Given the description of an element on the screen output the (x, y) to click on. 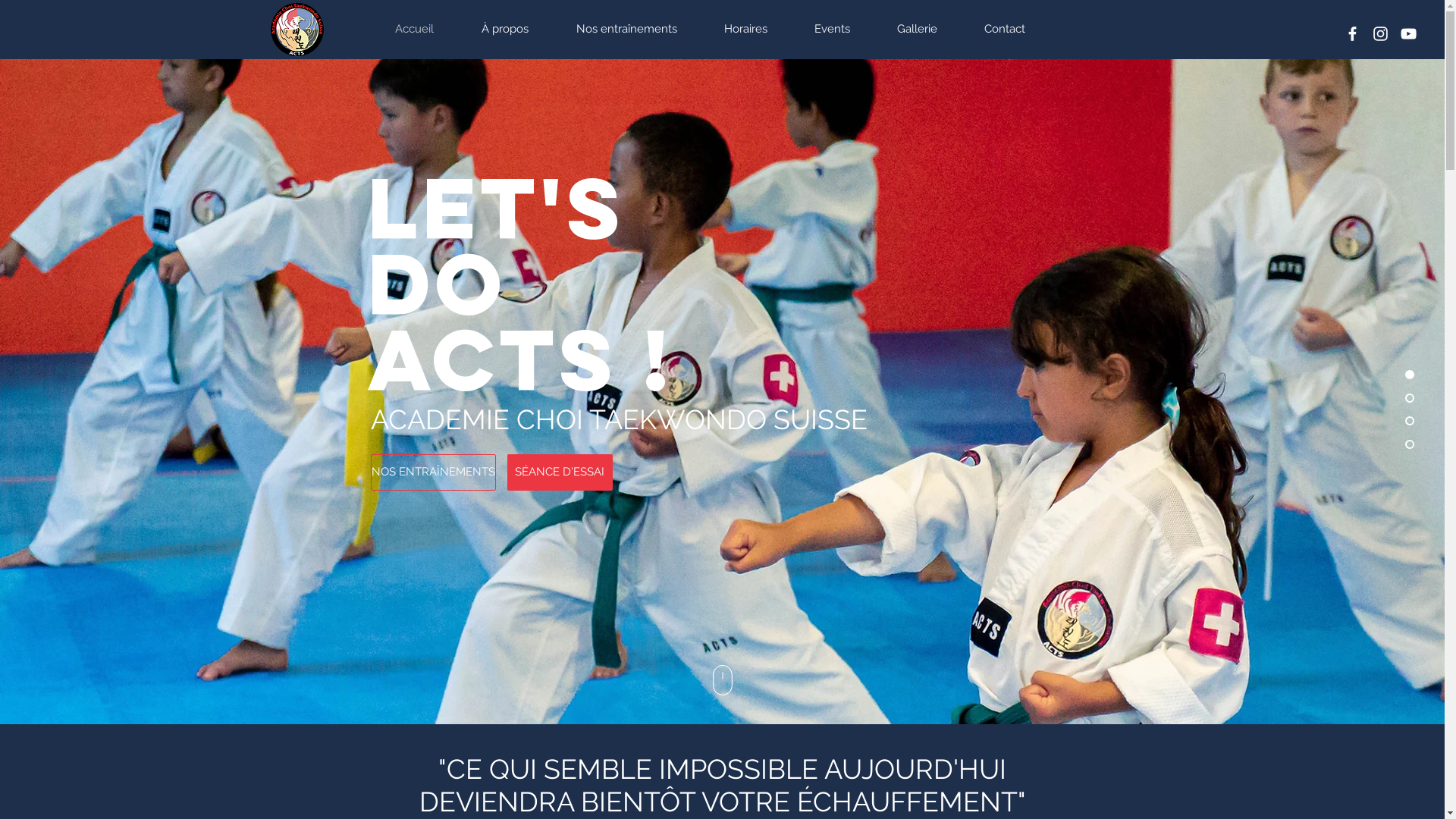
Gallerie Element type: text (928, 28)
Contact Element type: text (1016, 28)
Accueil Element type: text (426, 28)
Horaires Element type: text (757, 28)
Events Element type: text (843, 28)
